Given the description of an element on the screen output the (x, y) to click on. 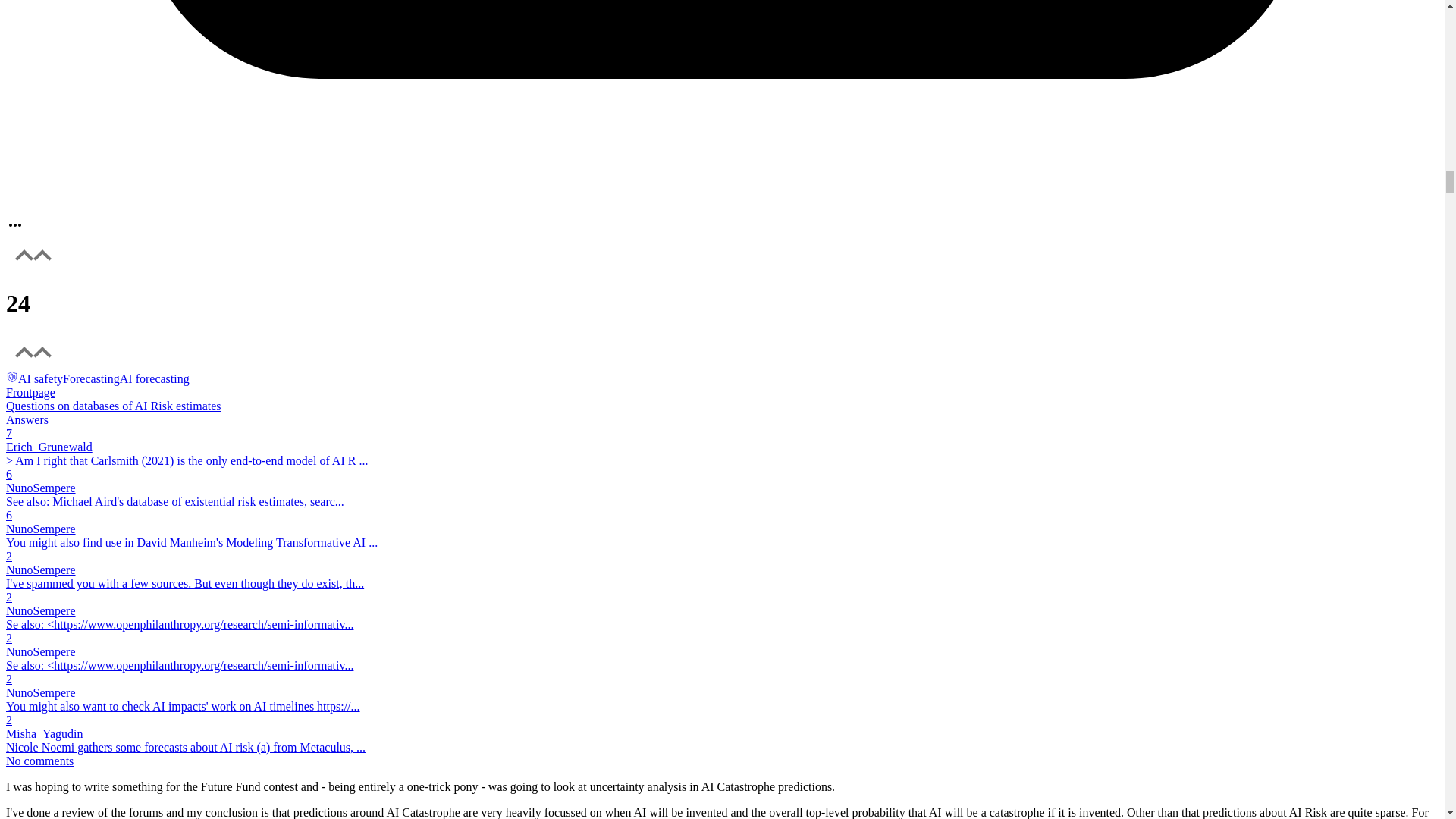
Answers (26, 419)
AI safety (33, 378)
No comments (39, 760)
Forecasting (90, 378)
Questions on databases of AI Risk estimates (113, 405)
AI forecasting (154, 378)
